Given the description of an element on the screen output the (x, y) to click on. 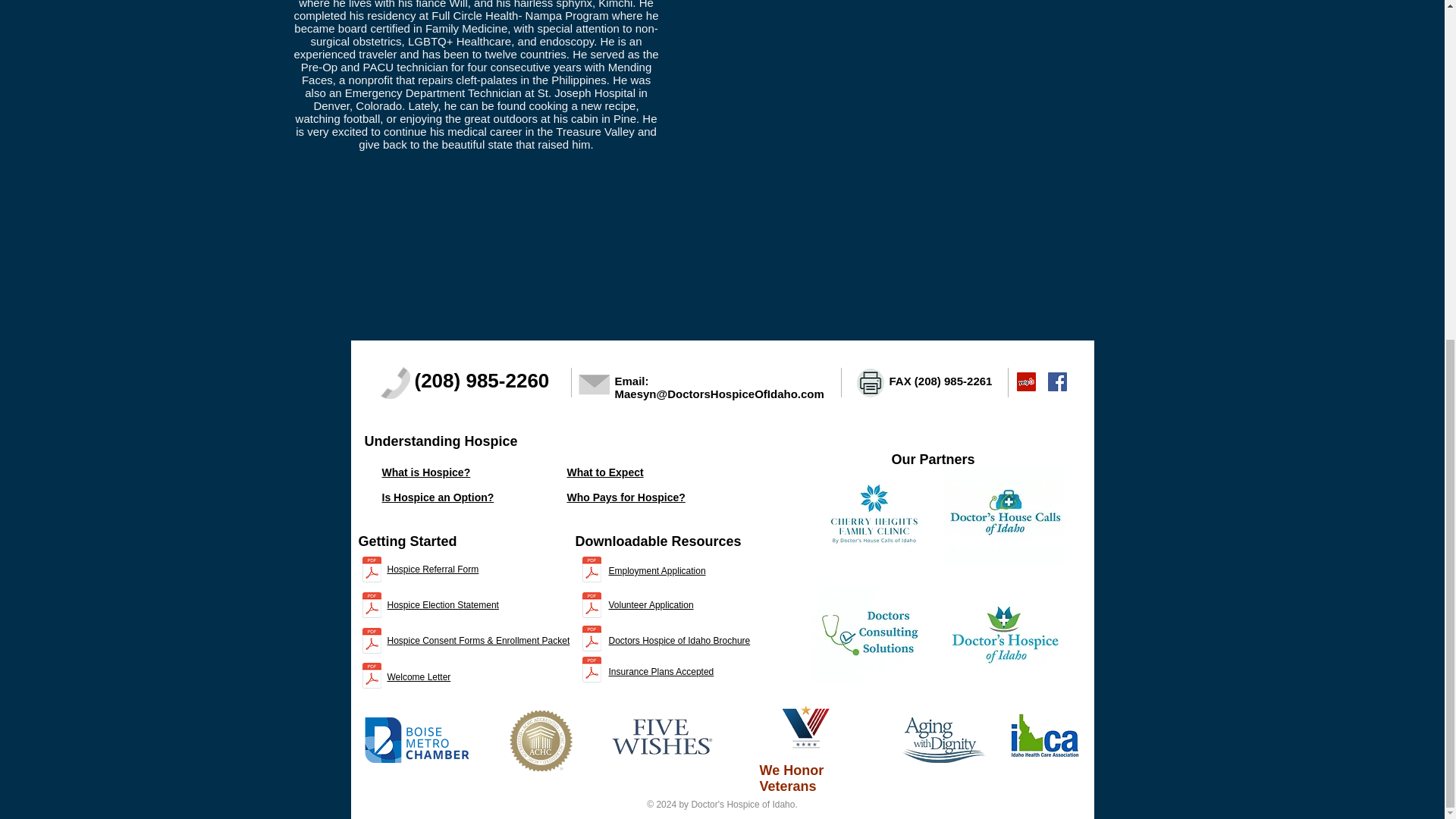
FAX (901, 380)
Doctors Hospice of Idaho Brochure (678, 640)
Volunteer Application (650, 604)
Insurance Plans Accepted (660, 671)
What to Expect (605, 472)
Employment Application (656, 570)
Who Pays for Hospice? (626, 497)
Is Hospice an Option? (438, 497)
What is Hospice? (425, 472)
